Given the description of an element on the screen output the (x, y) to click on. 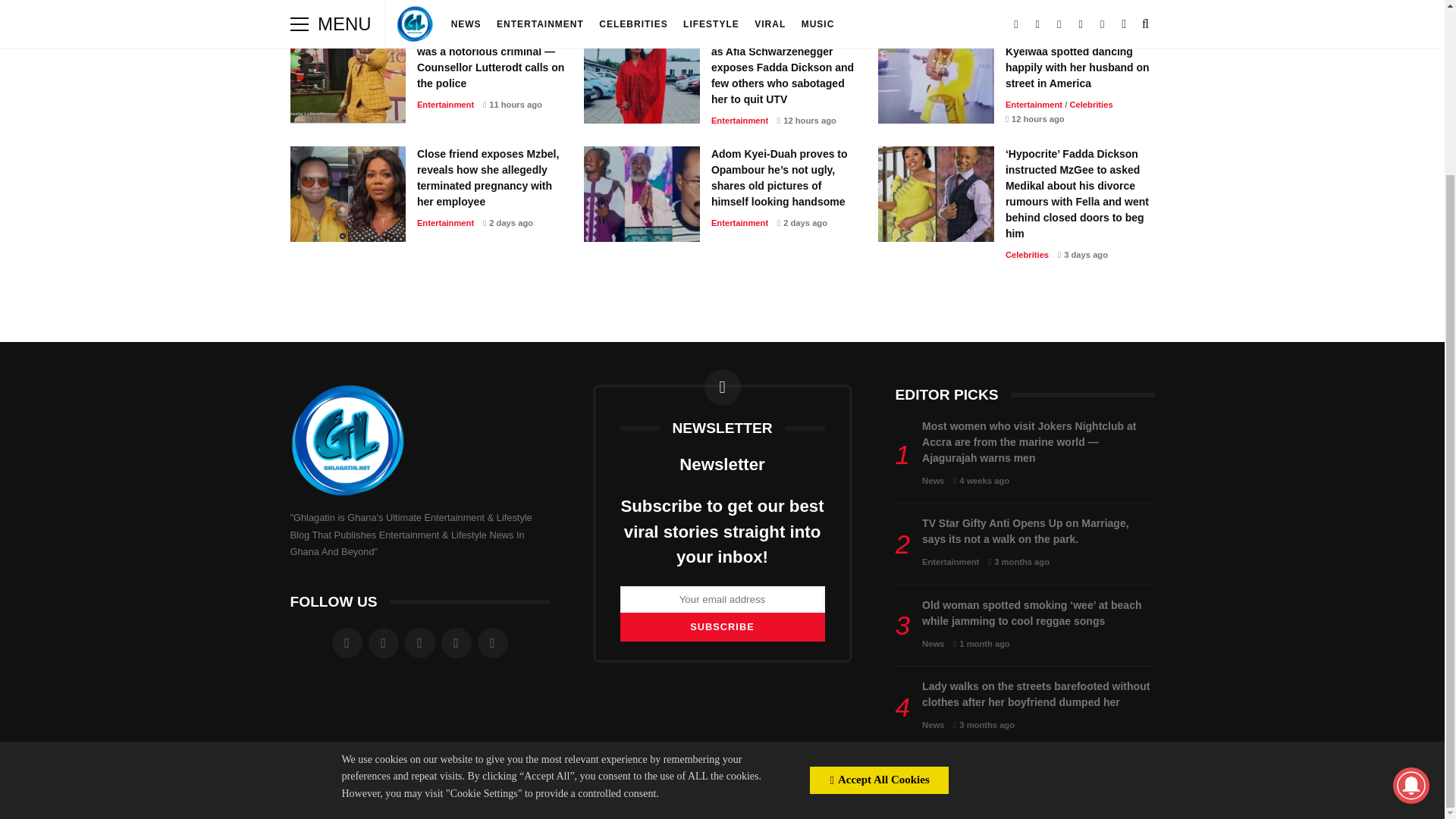
Subscribe (722, 626)
Entertainment (739, 120)
Entertainment (445, 103)
